Given the description of an element on the screen output the (x, y) to click on. 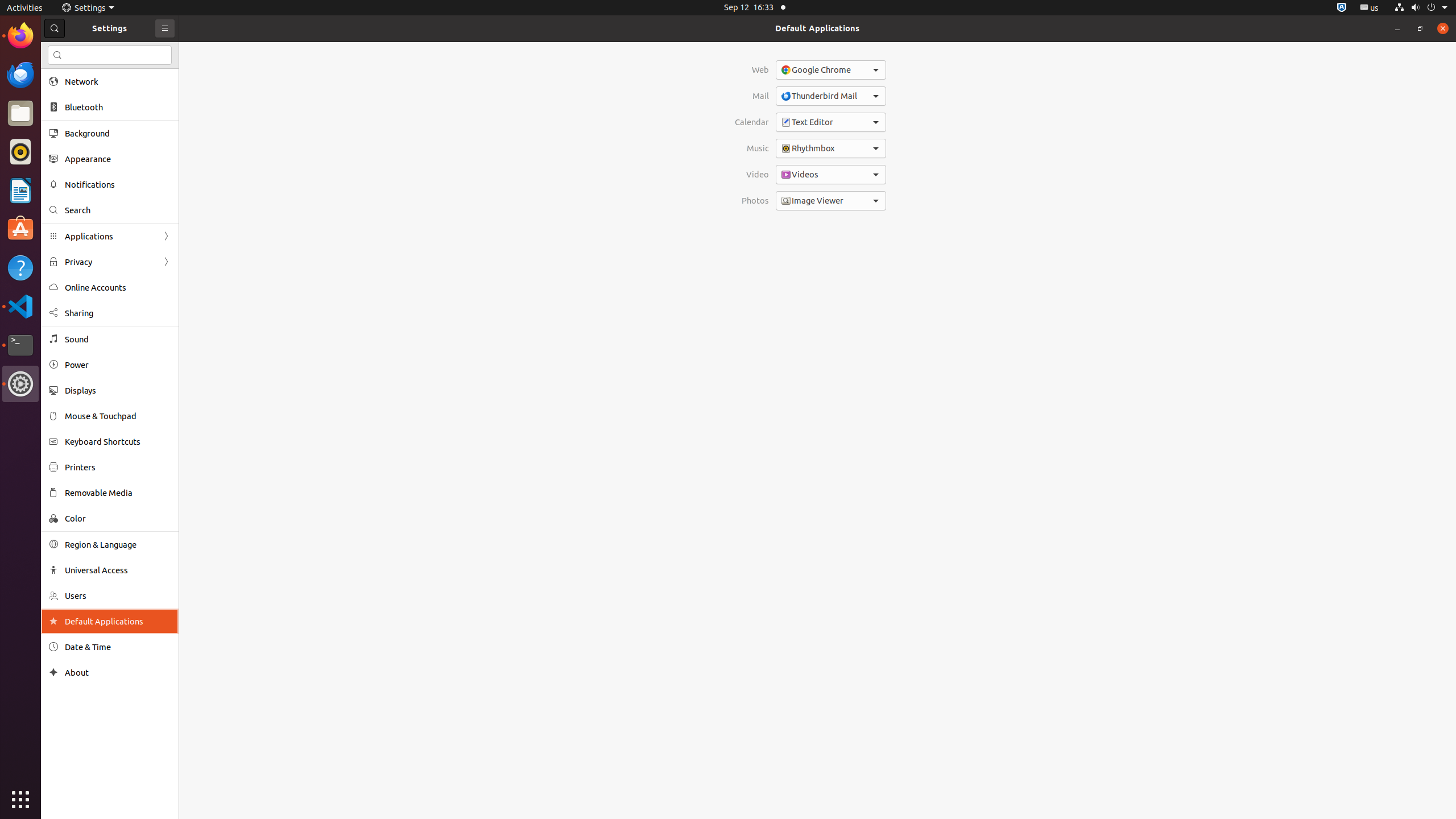
Mail Element type: label (751, 95)
Removable Media Element type: label (117, 492)
Video Element type: label (751, 174)
Settings Element type: menu (87, 7)
